Given the description of an element on the screen output the (x, y) to click on. 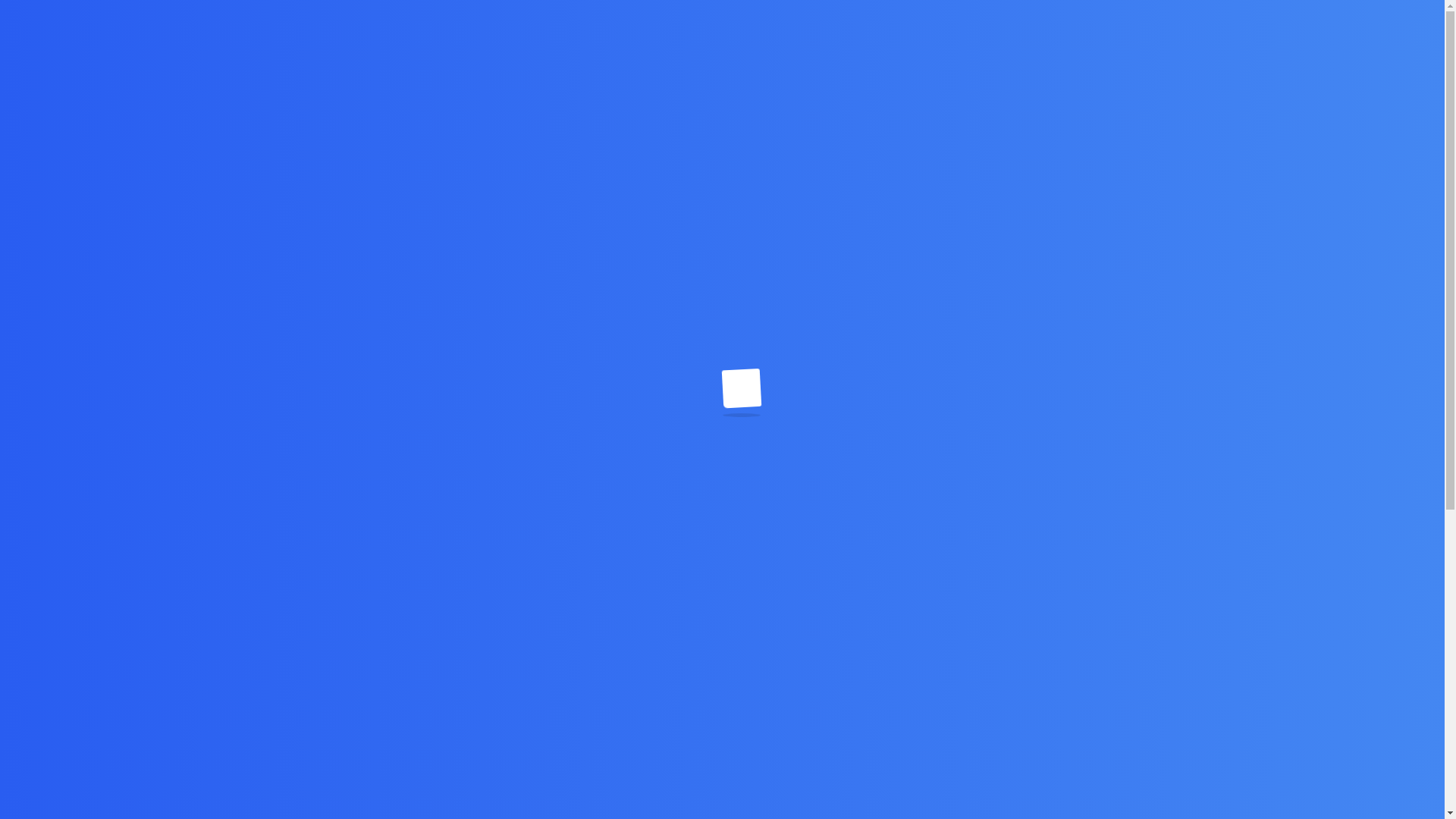
Get In Touch (1106, 75)
TOP (1406, 803)
Equipments (939, 75)
